Given the description of an element on the screen output the (x, y) to click on. 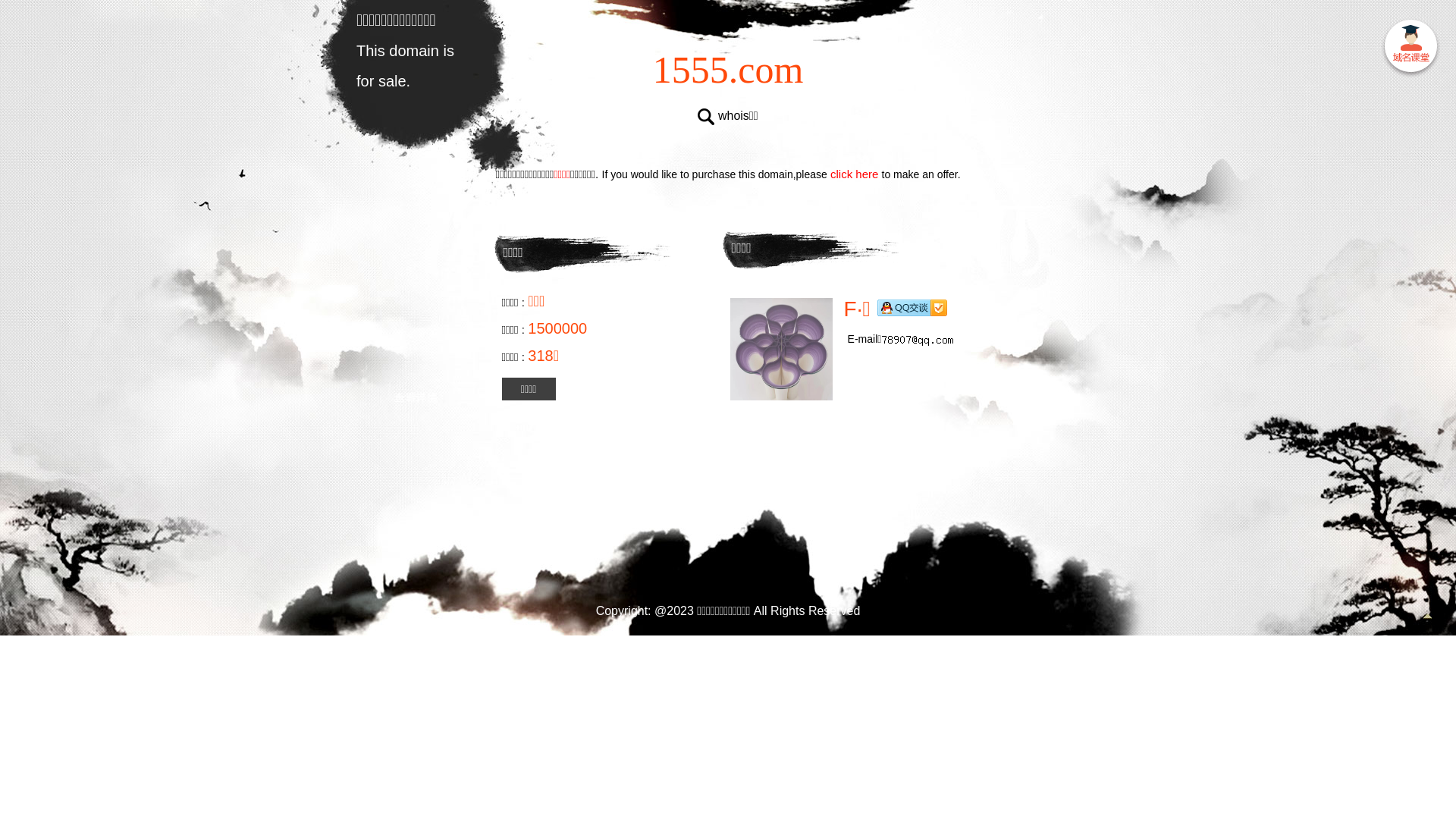
  Element type: text (1410, 48)
click here Element type: text (854, 173)
